Given the description of an element on the screen output the (x, y) to click on. 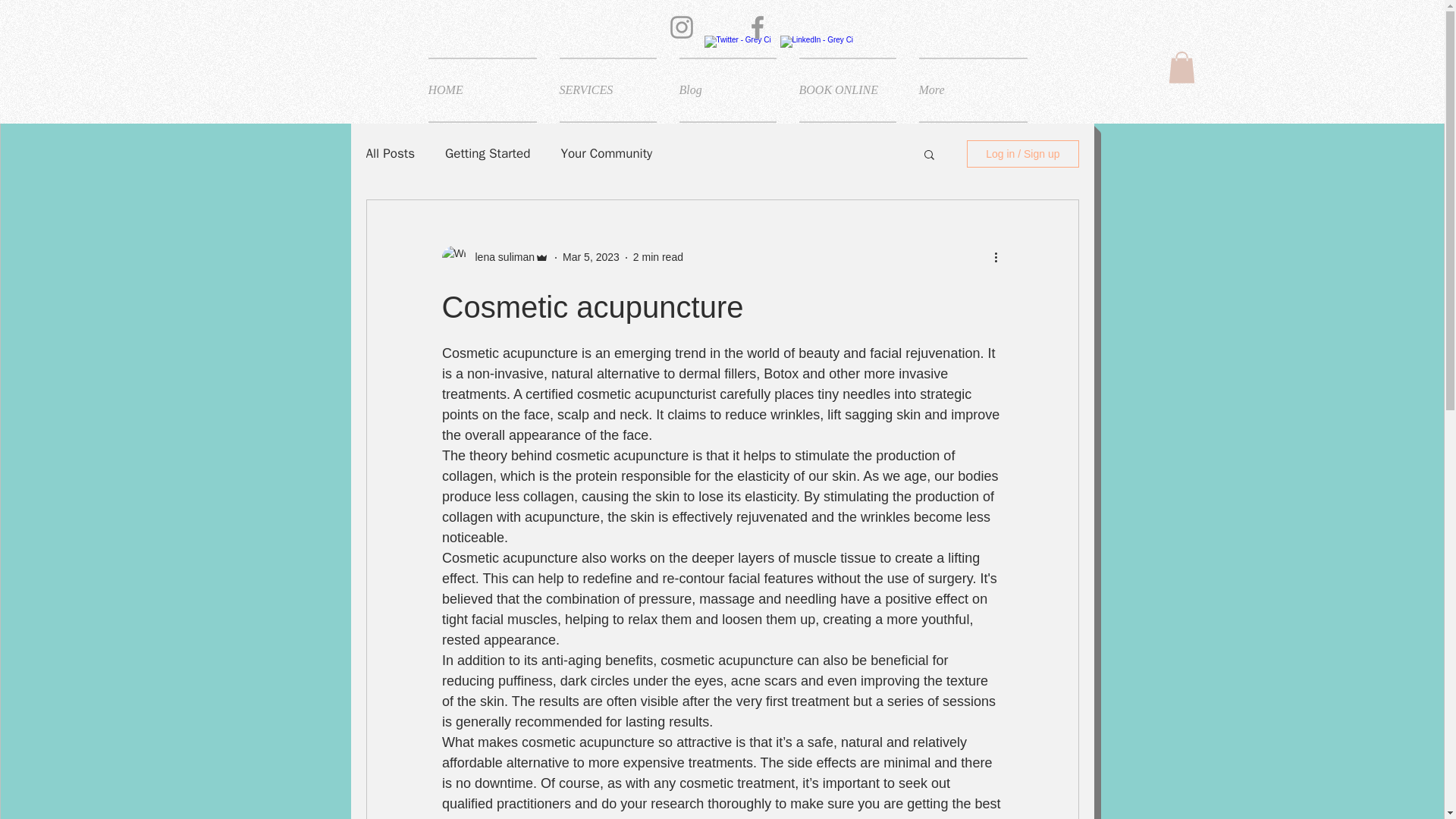
All Posts (389, 153)
Your Community (606, 153)
2 min read (657, 256)
SERVICES (606, 89)
HOME (487, 89)
lena suliman (499, 257)
BOOK ONLINE (847, 89)
Getting Started (487, 153)
Mar 5, 2023 (591, 256)
Blog (726, 89)
